Given the description of an element on the screen output the (x, y) to click on. 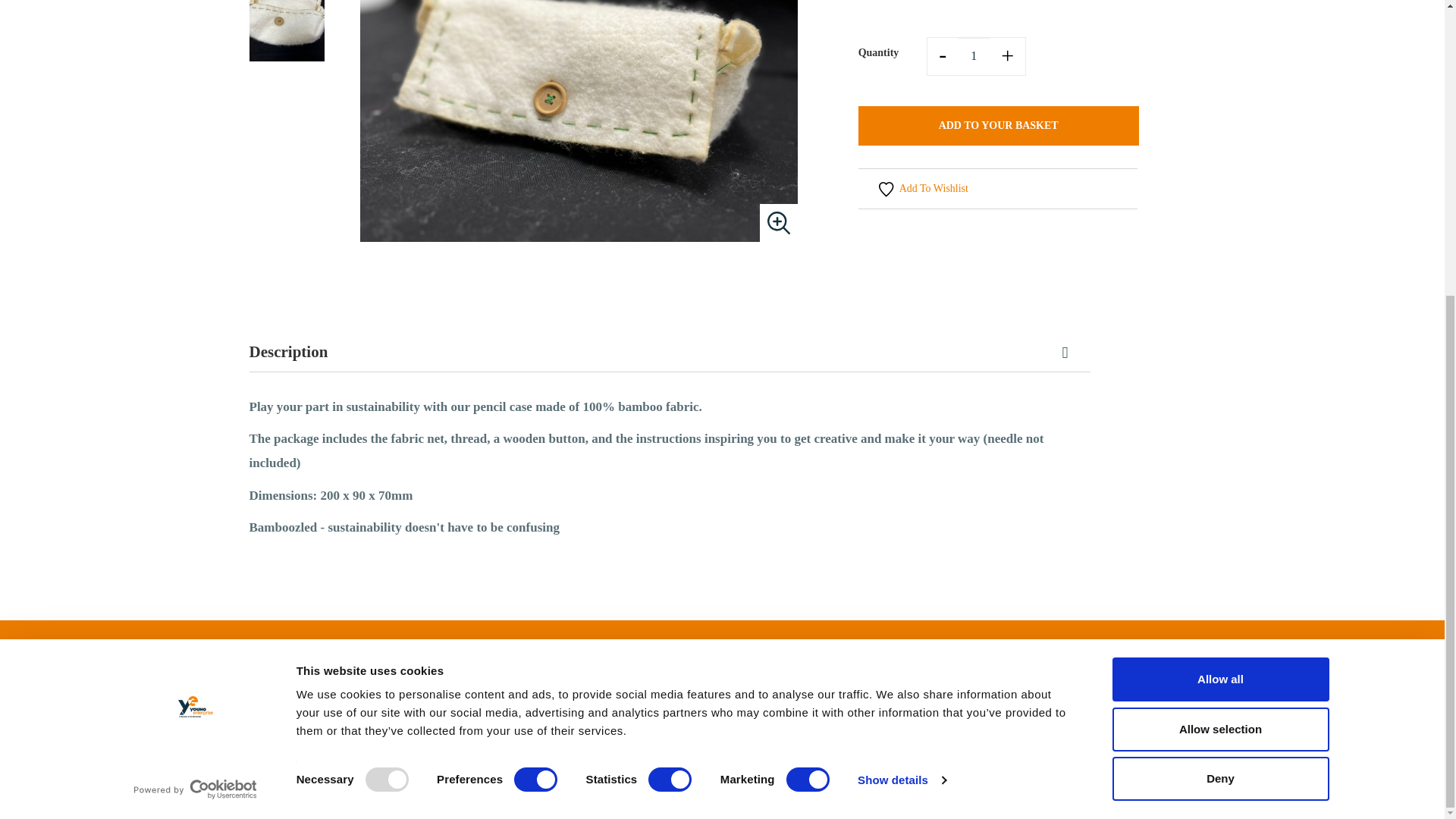
Show details (900, 323)
